Given the description of an element on the screen output the (x, y) to click on. 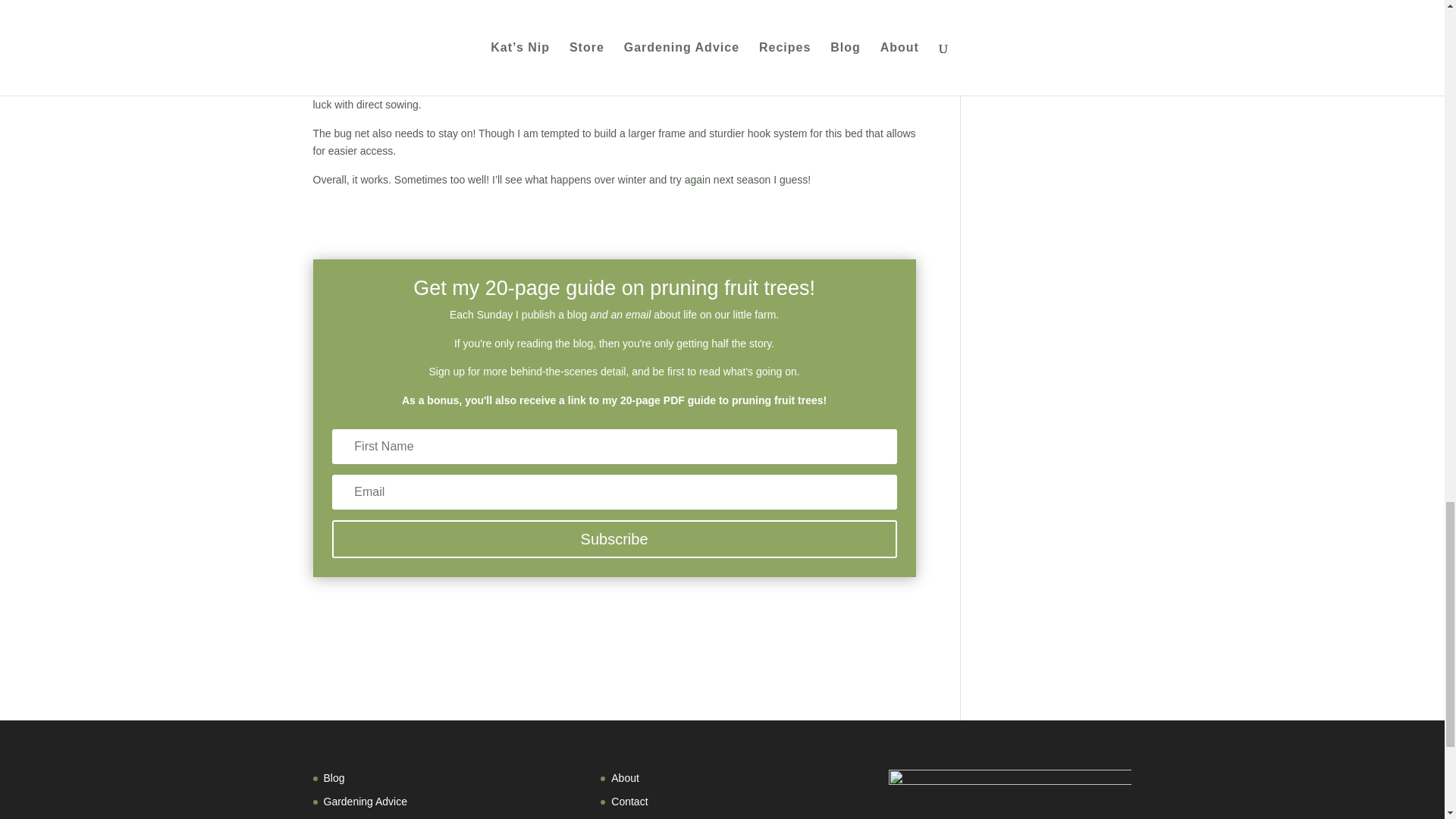
Blog (333, 777)
Privacy policy (644, 818)
Gardening Advice (365, 801)
Contact (629, 801)
Subscribe (613, 538)
About (625, 777)
